Given the description of an element on the screen output the (x, y) to click on. 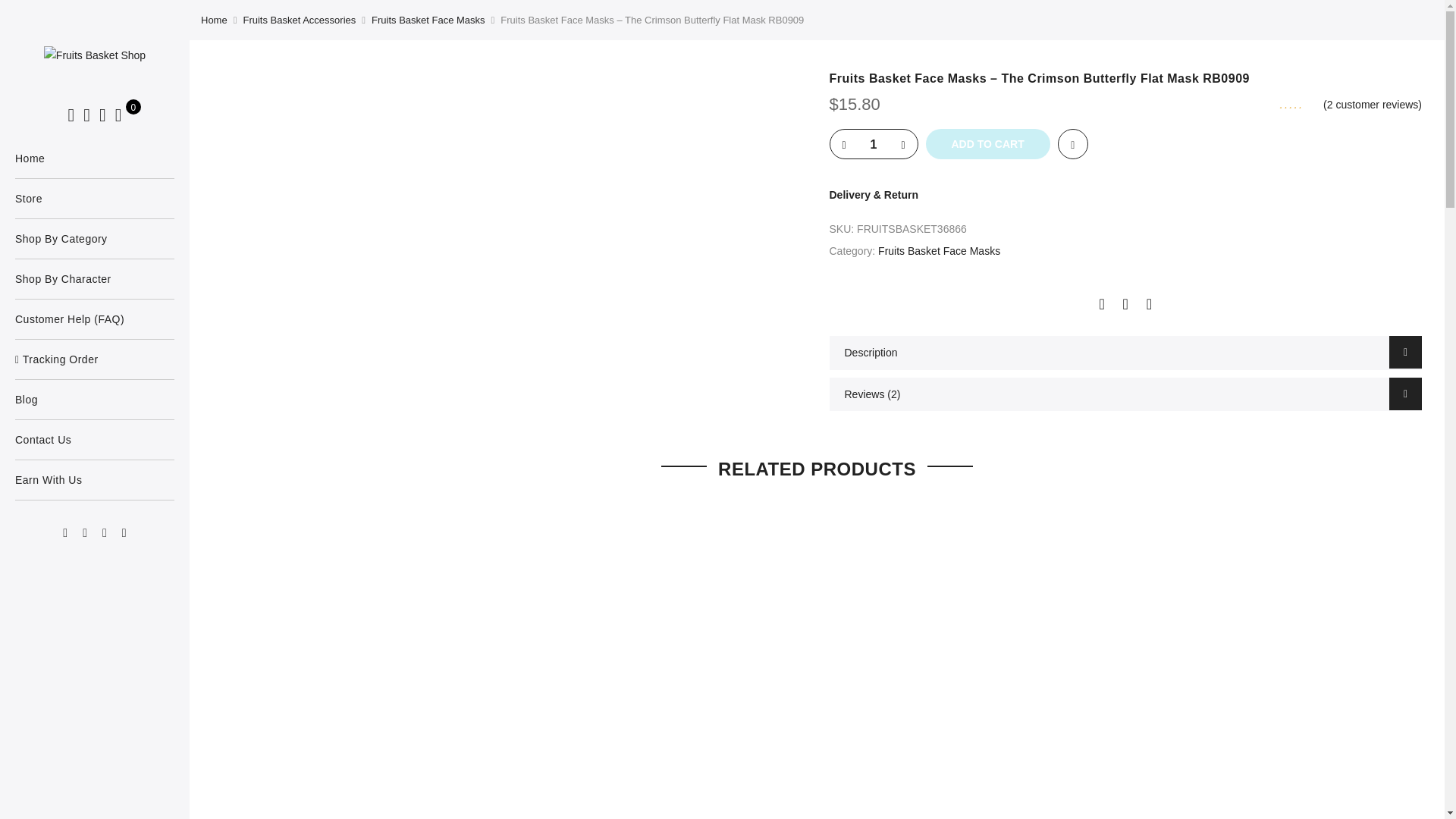
Qty (873, 144)
Shop By Category (94, 238)
Store (94, 198)
Home (94, 158)
1 (873, 144)
